Given the description of an element on the screen output the (x, y) to click on. 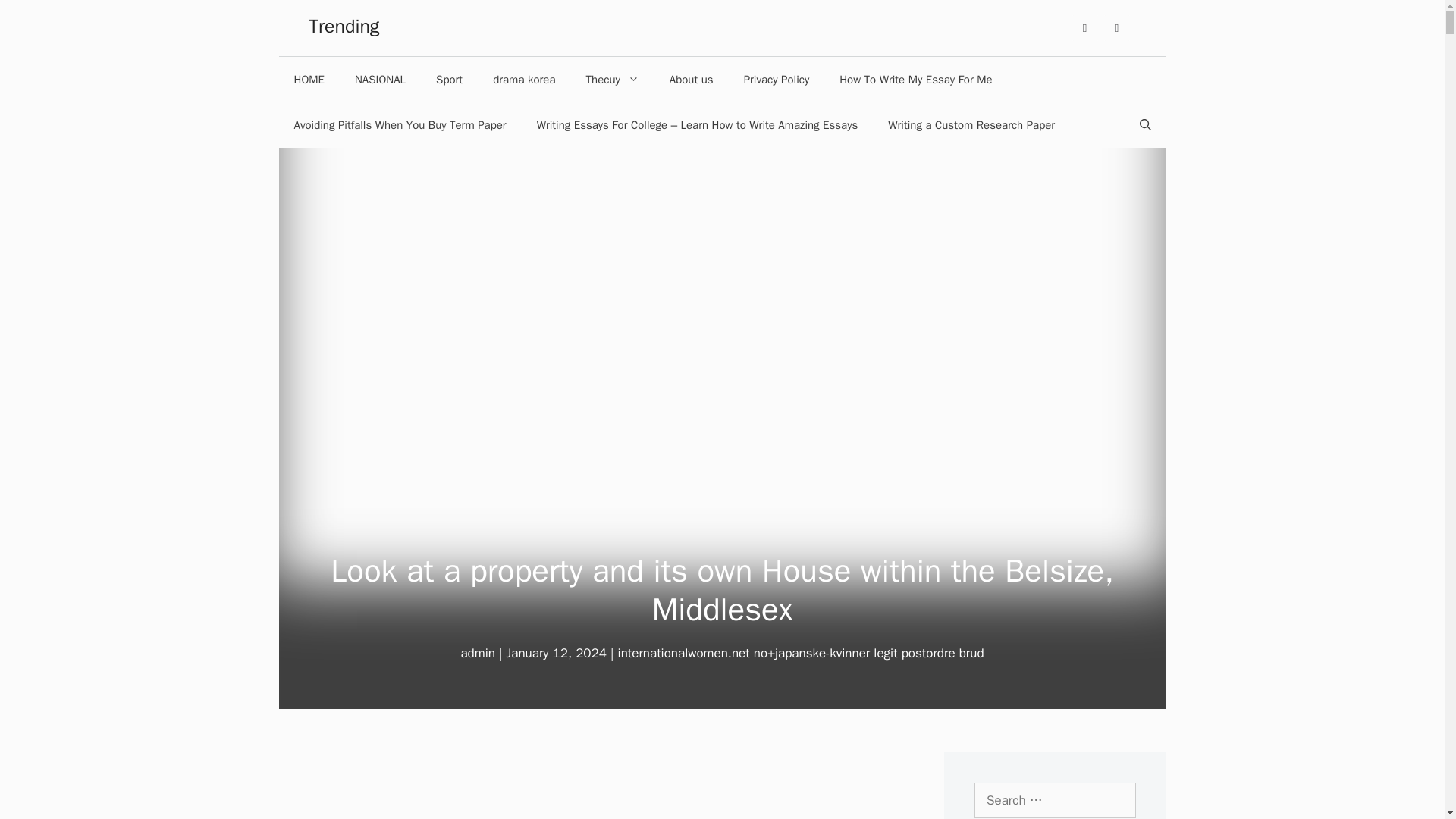
About us (691, 79)
HOME (309, 79)
Facebook (1084, 27)
Sport (448, 79)
drama korea (523, 79)
admin (477, 652)
Search for: (1054, 800)
Writing a Custom Research Paper (971, 125)
Trending (344, 25)
How To Write My Essay For Me (915, 79)
Twitter (1116, 27)
NASIONAL (379, 79)
Avoiding Pitfalls When You Buy Term Paper (400, 125)
Search (34, 16)
View all posts by admin (477, 652)
